Given the description of an element on the screen output the (x, y) to click on. 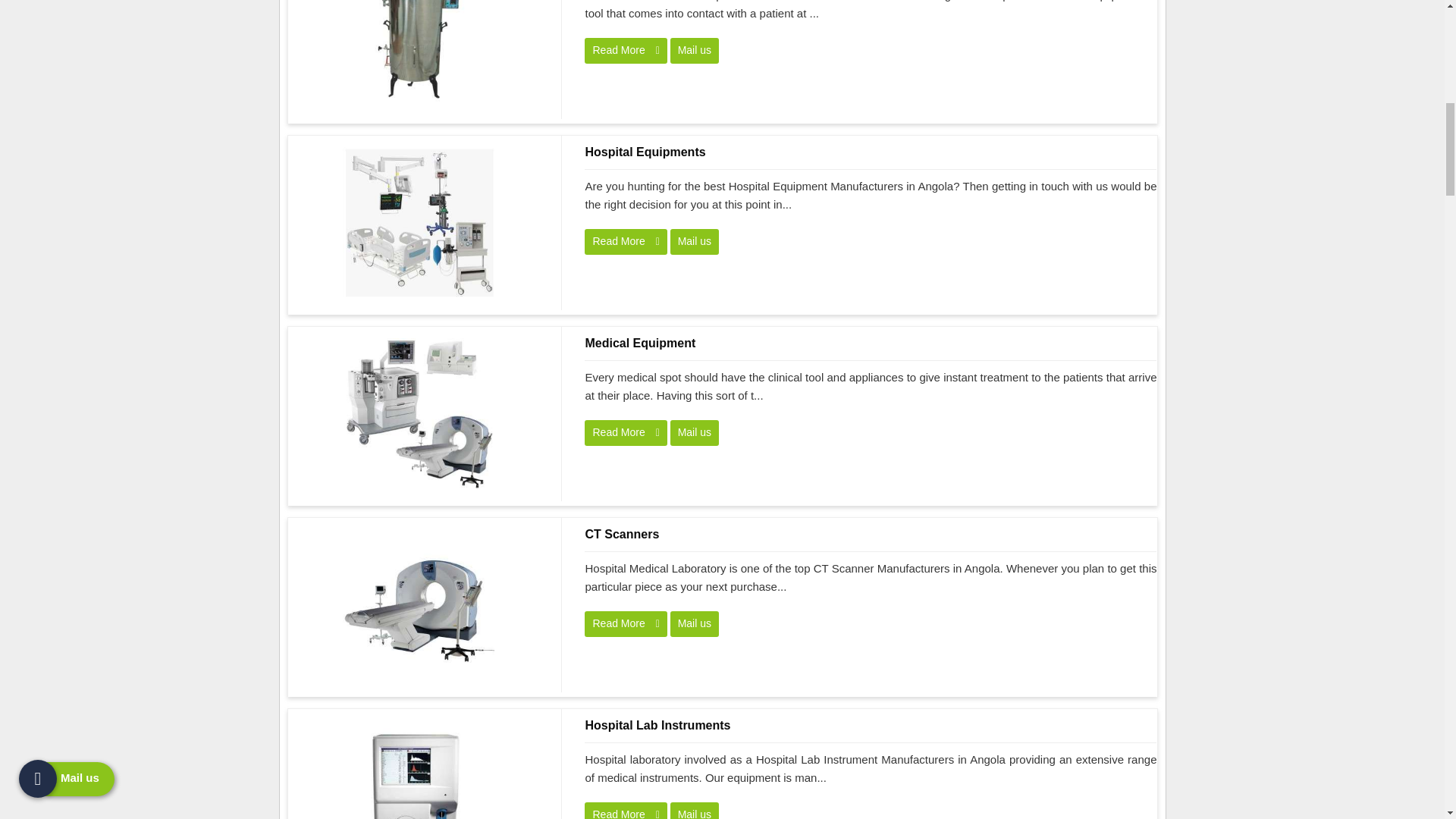
Read More (625, 623)
Mail us (694, 241)
Mail us (694, 50)
Medical Equipment (870, 343)
Hospital Lab Instruments (870, 725)
Hospital Equipments (870, 152)
Read More (625, 50)
Hospital Equipments (419, 222)
Medical Equipment (419, 413)
Read More (625, 810)
Read More (625, 432)
Mail us (694, 50)
 Hospital Equipments Manufacturers in Angola (418, 222)
Mail us (694, 810)
 Hospital Medical Autoclaves Manufacturers in Angola (418, 53)
